Given the description of an element on the screen output the (x, y) to click on. 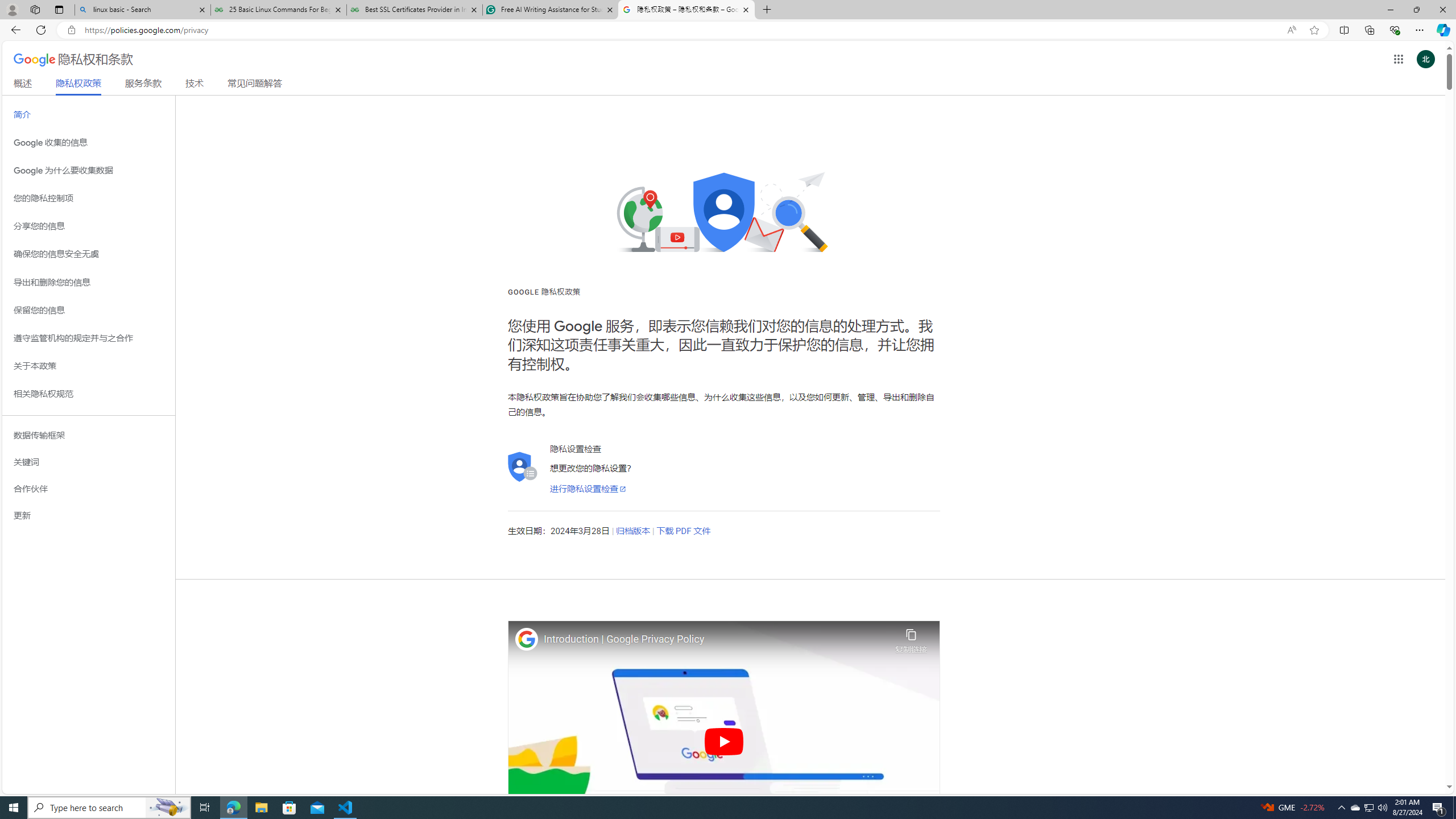
Class: gb_E (1398, 59)
